Given the description of an element on the screen output the (x, y) to click on. 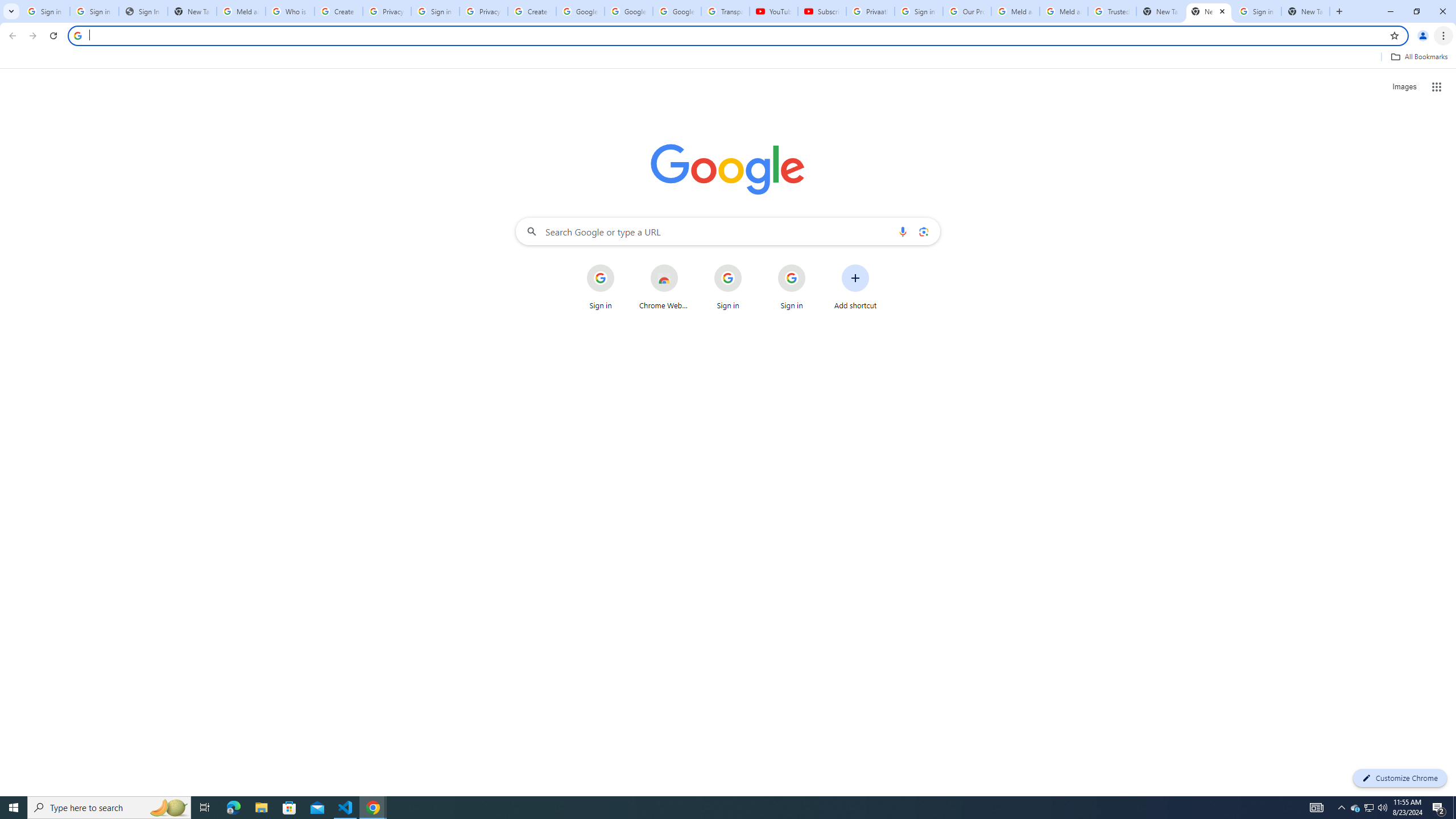
Search by voice (902, 230)
Google Account (676, 11)
Search by image (922, 230)
New Tab (1305, 11)
Minimize (1390, 11)
Bookmarks (728, 58)
Sign in - Google Accounts (45, 11)
Chrome (1445, 35)
Address and search bar (735, 35)
YouTube (773, 11)
New Tab (1208, 11)
